Given the description of an element on the screen output the (x, y) to click on. 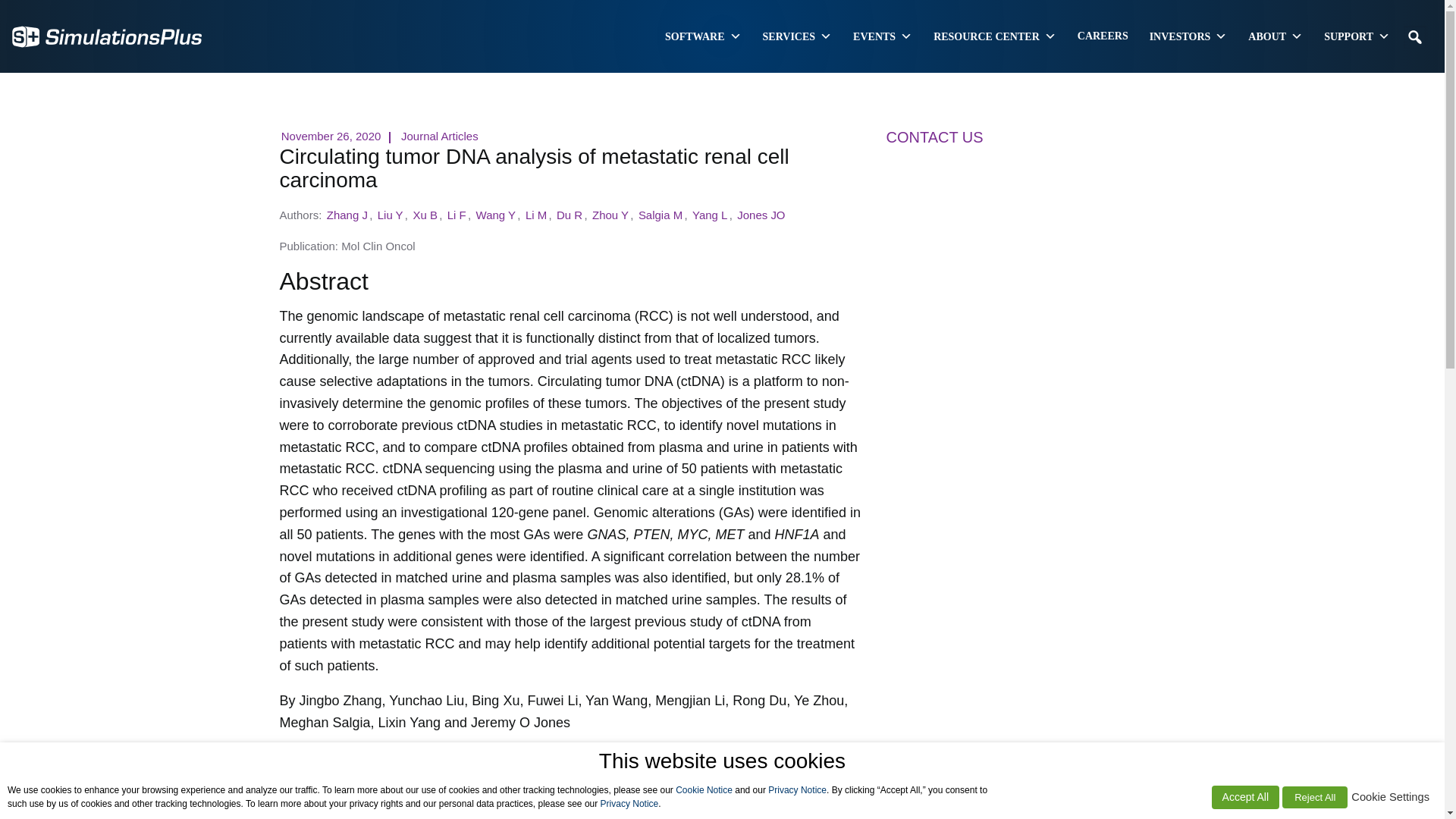
View all resources in Journal Articles (439, 135)
View all from this author: Jones JO (761, 214)
View all from this author: Li M (536, 214)
View all from this author: Salgia M (660, 214)
View all posts from Nov 2020 (331, 135)
View all from this author: Yang L (709, 214)
View all from this author: Xu B (424, 214)
View all from this author: Du R (569, 214)
View all from this author: Wang Y (495, 214)
View all from this author: Zhou Y (610, 214)
Twitter (421, 765)
View all from this author: Li F (456, 214)
View all from this author: Zhang J (346, 214)
Simulations Plus (106, 35)
View all from this author: Liu Y (389, 214)
